Given the description of an element on the screen output the (x, y) to click on. 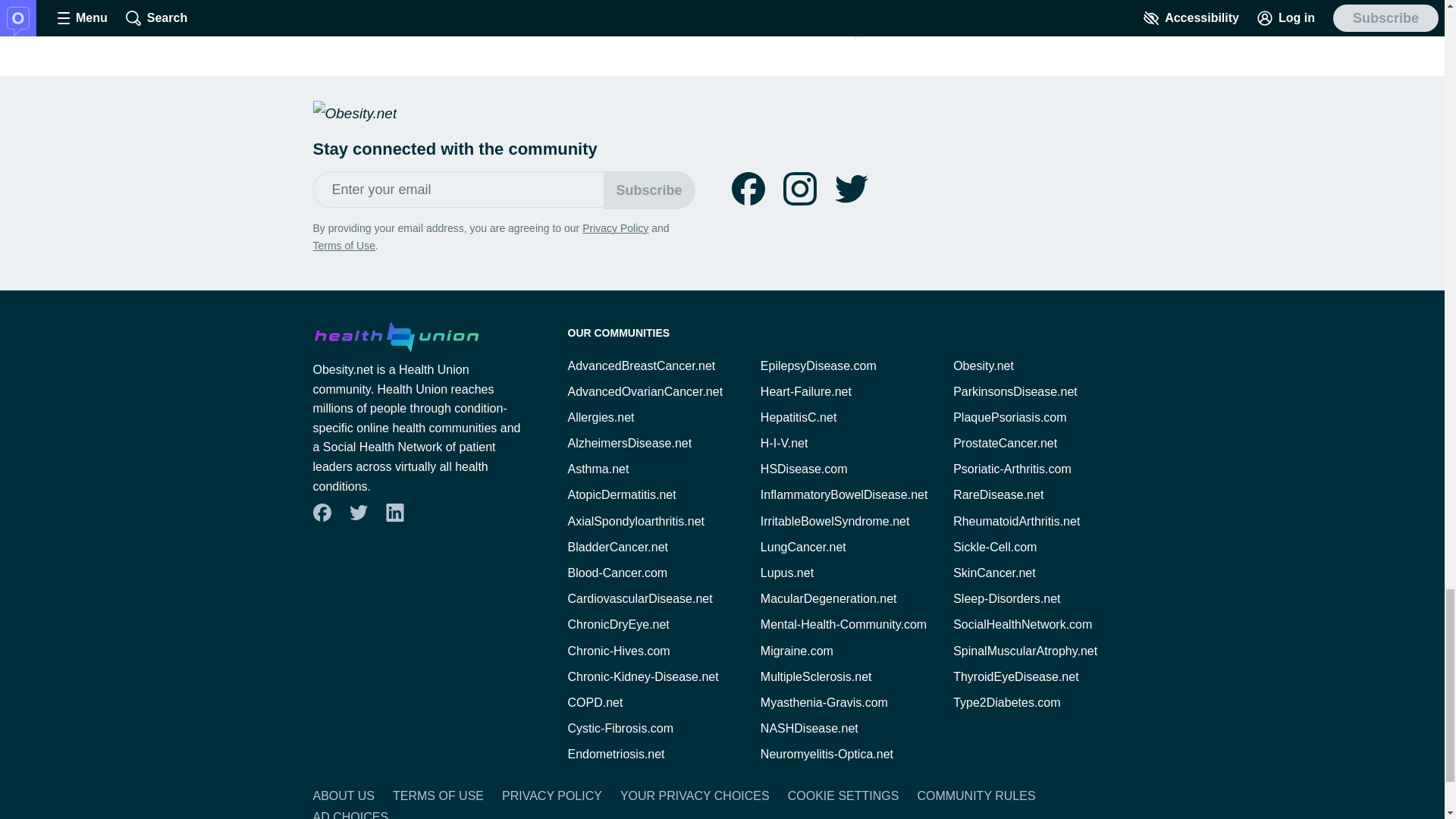
Follow us on twitter (850, 188)
Privacy Policy (614, 227)
Follow us on twitter (850, 188)
Follow us on twitter (357, 512)
Post comment (583, 7)
Follow us on facebook (747, 188)
Follow us on instagram (799, 188)
Follow us on facebook (321, 512)
Follow us on instagram (799, 188)
Follow us on facebook (747, 188)
